Given the description of an element on the screen output the (x, y) to click on. 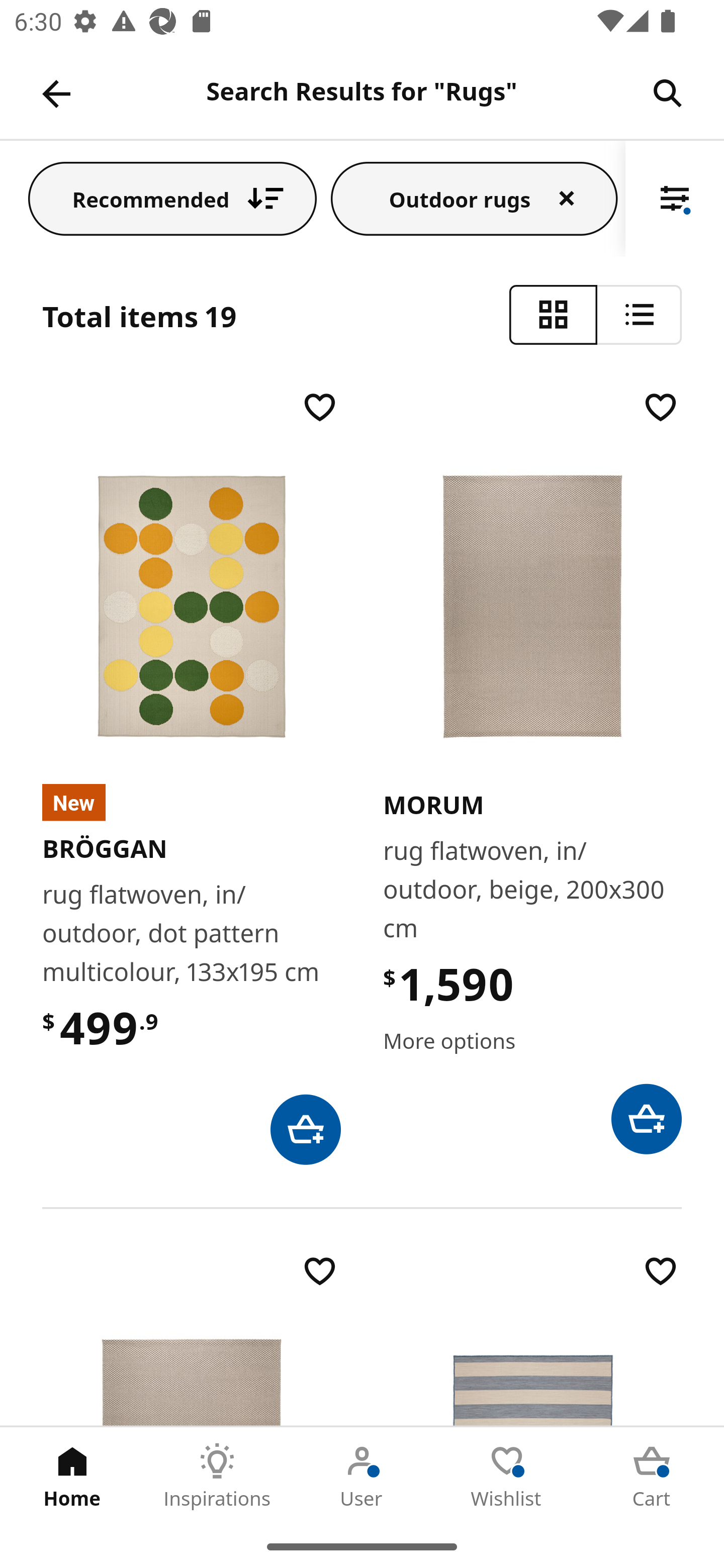
Recommended (172, 198)
Outdoor rugs (473, 198)
Home
Tab 1 of 5 (72, 1476)
Inspirations
Tab 2 of 5 (216, 1476)
User
Tab 3 of 5 (361, 1476)
Wishlist
Tab 4 of 5 (506, 1476)
Cart
Tab 5 of 5 (651, 1476)
